Given the description of an element on the screen output the (x, y) to click on. 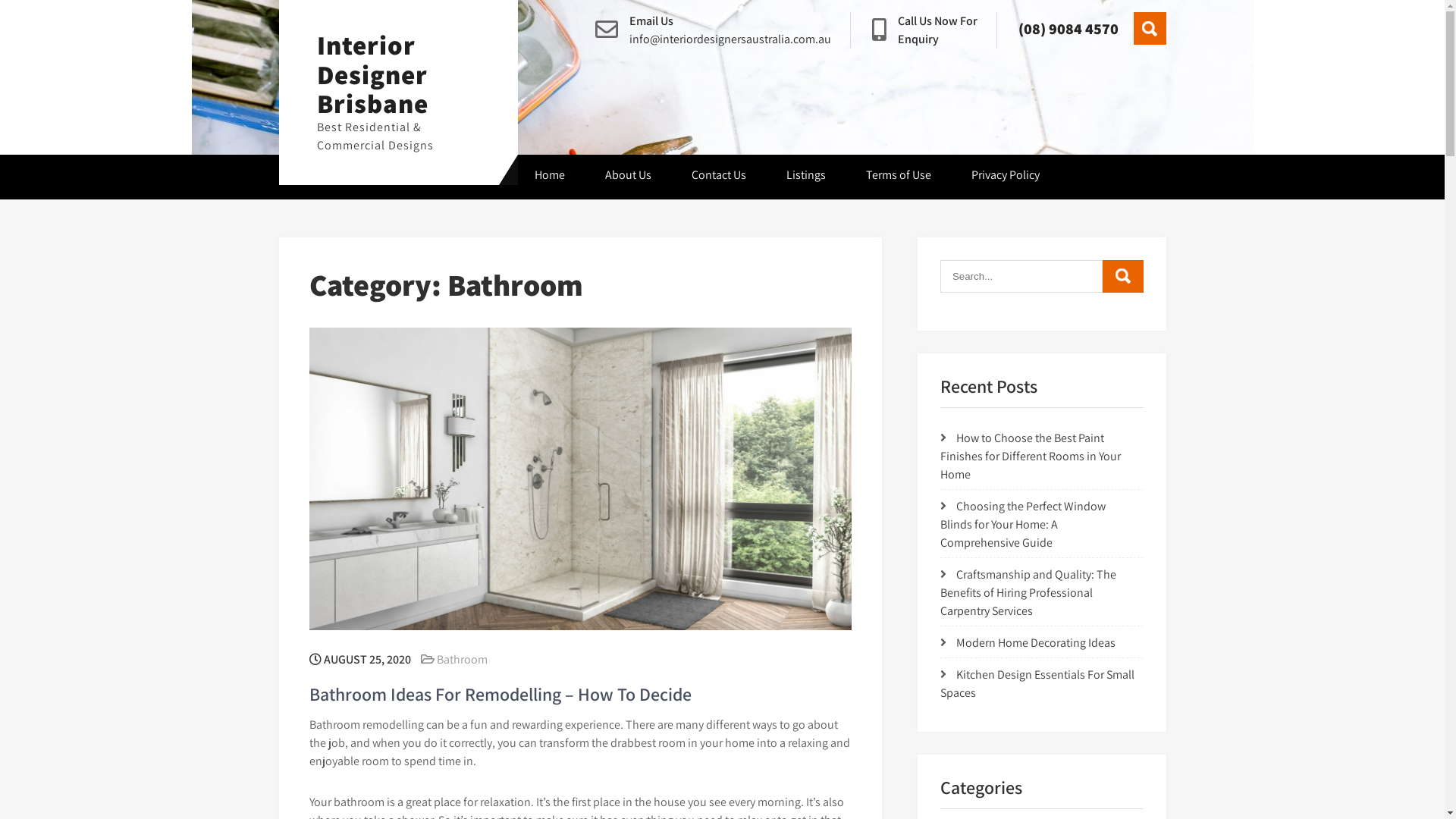
Privacy Policy Element type: text (1005, 176)
Home Element type: text (549, 176)
Search Element type: text (1122, 275)
Terms of Use Element type: text (898, 176)
Interior Designer Brisbane Element type: text (372, 73)
Search Element type: text (1148, 28)
Bathroom Element type: text (461, 659)
Contact Us Element type: text (718, 176)
About Us Element type: text (628, 176)
Listings Element type: text (805, 176)
info@interiordesignersaustralia.com.au Element type: text (730, 39)
Modern Home Decorating Ideas Element type: text (1035, 642)
Kitchen Design Essentials For Small Spaces Element type: text (1037, 683)
